Given the description of an element on the screen output the (x, y) to click on. 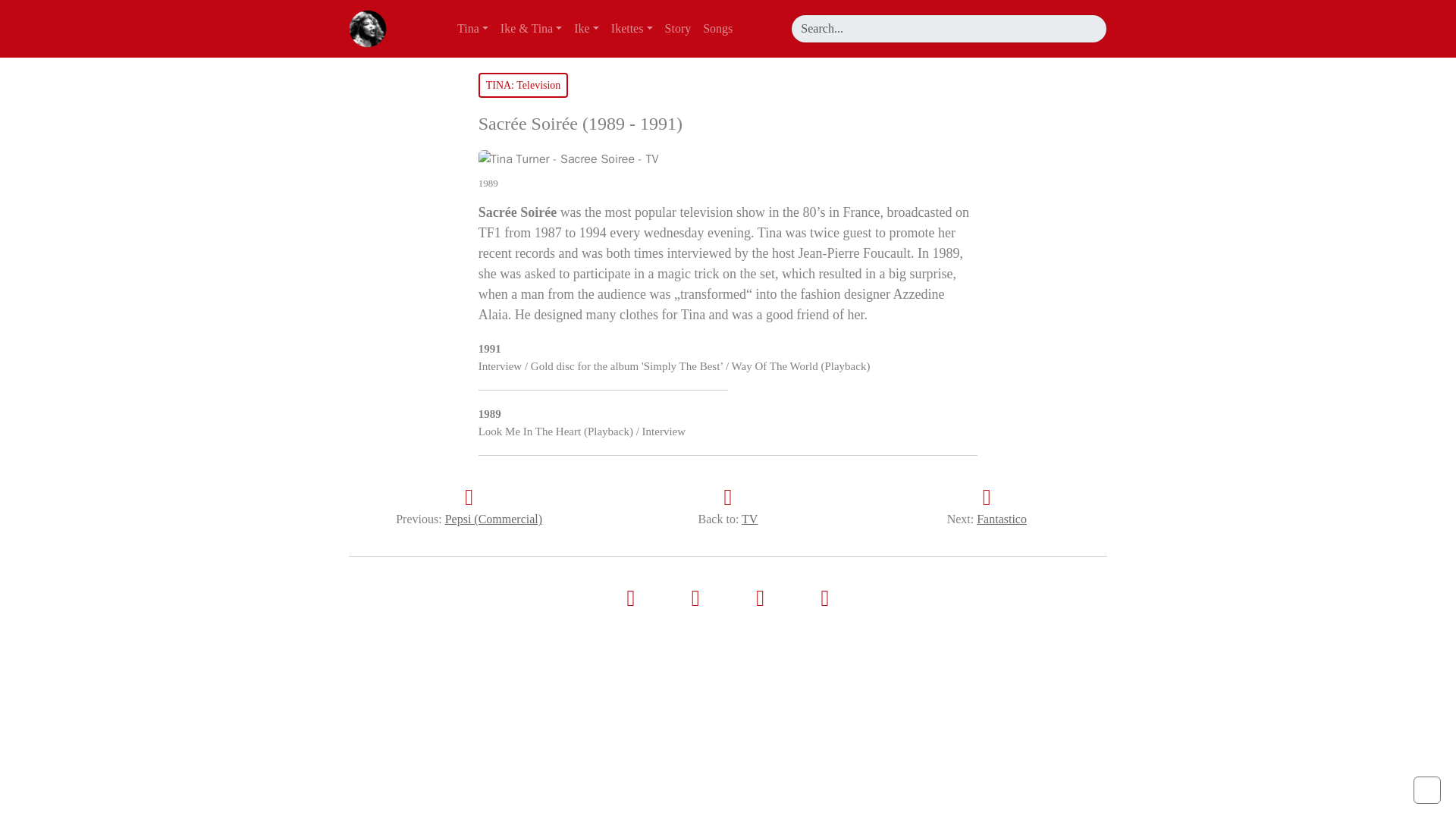
TINA: Television (524, 84)
TV (749, 518)
Ikettes (632, 28)
Songs (717, 28)
Fantastico (1001, 518)
Ike (586, 28)
Story (678, 28)
Tina (473, 28)
